Given the description of an element on the screen output the (x, y) to click on. 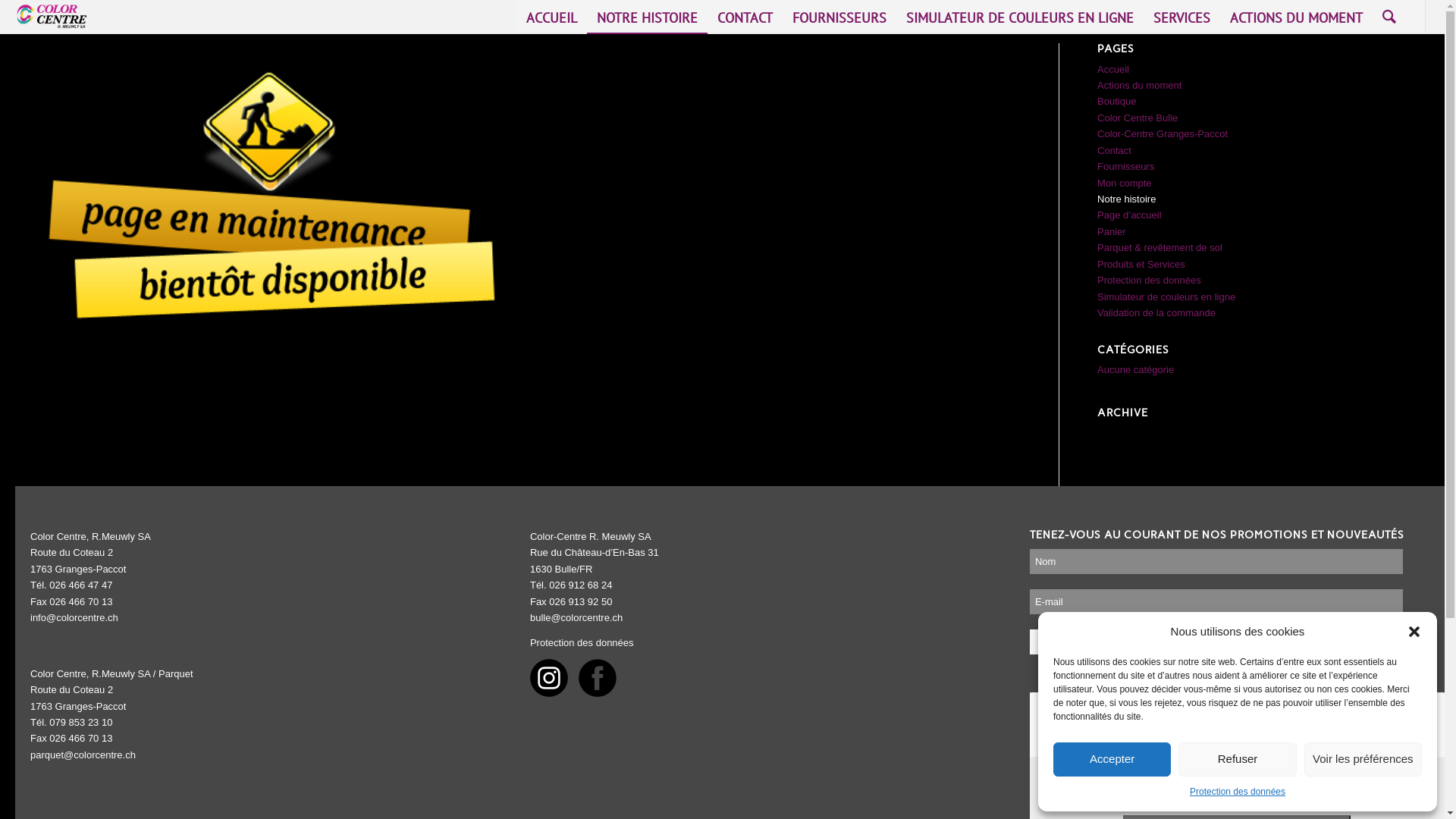
Contact Element type: text (1114, 150)
bulle@colorcentre.ch Element type: text (576, 617)
Mon compte Element type: text (1124, 182)
SERVICES Element type: text (1181, 16)
Accueil Element type: text (1113, 69)
SIMULATEUR DE COULEURS EN LIGNE Element type: text (1019, 16)
Accueil Element type: text (1330, 21)
Notre histoire Element type: text (53, 20)
Color Centre Bulle Element type: text (1137, 117)
Simulateur de couleurs en ligne Element type: text (1166, 296)
info@colorcentre.ch Element type: text (74, 617)
ACTIONS DU MOMENT Element type: text (1296, 16)
Produits et Services Element type: text (1141, 263)
Boutique Element type: text (1116, 100)
Validation de la commande Element type: text (1156, 312)
Color-Centre Granges-Paccot Element type: text (1162, 133)
Accepter Element type: text (1111, 759)
NOTRE HISTOIRE Element type: text (646, 16)
Envoyer Element type: text (1064, 641)
Notre histoire Element type: text (1126, 198)
parquet@colorcentre.ch Element type: text (82, 754)
Panier Element type: text (1111, 231)
Fournisseurs Element type: text (1125, 166)
Actions du moment Element type: text (1139, 85)
CONTACT Element type: text (744, 16)
FOURNISSEURS Element type: text (839, 16)
Refuser Element type: text (1236, 759)
ACCUEIL Element type: text (551, 16)
